Given the description of an element on the screen output the (x, y) to click on. 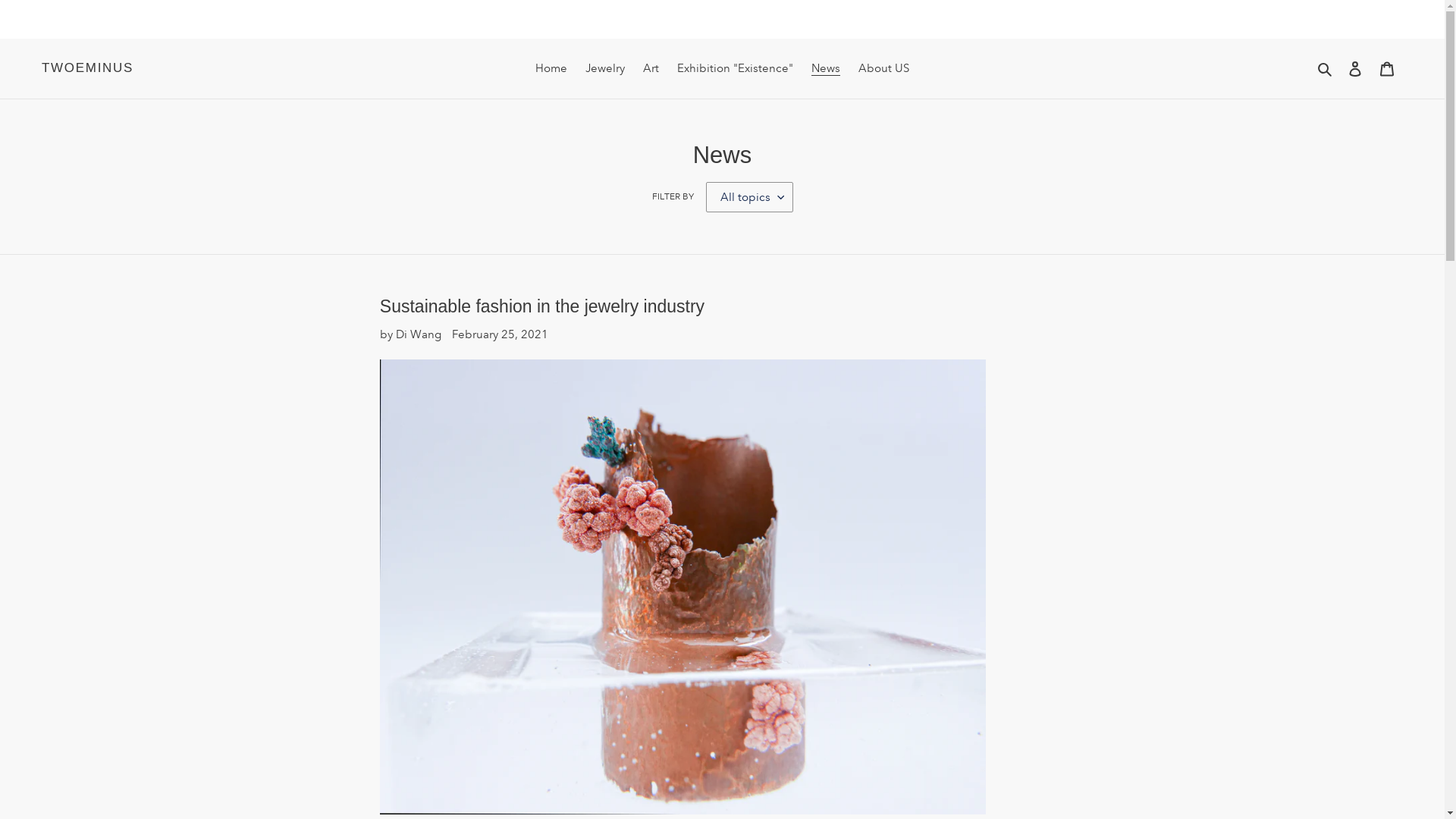
TWOEMINUS Element type: text (87, 67)
Log in Element type: text (1355, 68)
Cart Element type: text (1386, 68)
News Element type: text (825, 68)
Sustainable fashion in the jewelry industry Element type: text (541, 306)
Jewelry Element type: text (604, 68)
Search Element type: text (1325, 68)
Exhibition "Existence" Element type: text (734, 68)
Art Element type: text (650, 68)
About US Element type: text (883, 68)
Home Element type: text (550, 68)
